Given the description of an element on the screen output the (x, y) to click on. 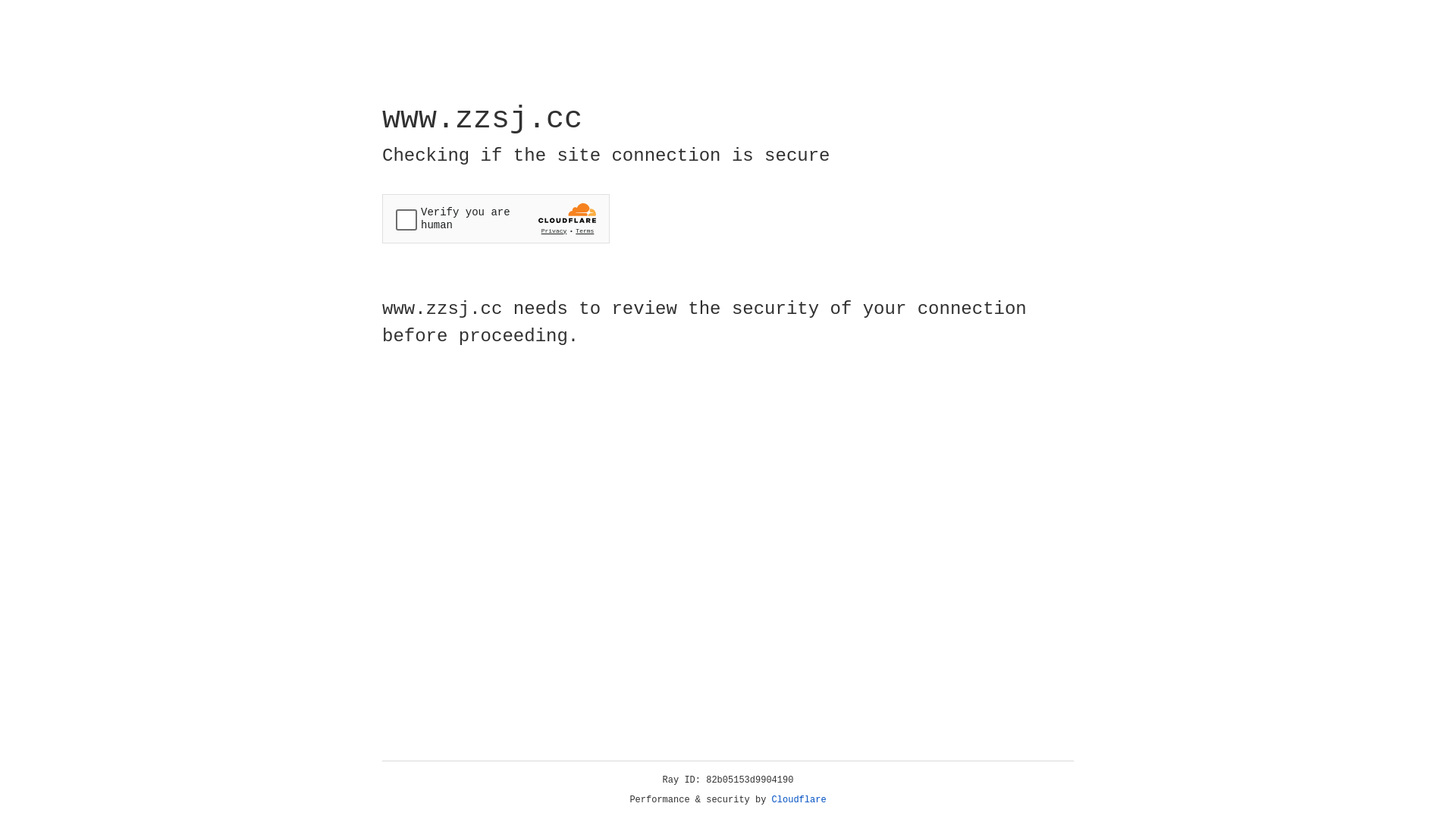
Widget containing a Cloudflare security challenge Element type: hover (495, 218)
Cloudflare Element type: text (798, 799)
